Given the description of an element on the screen output the (x, y) to click on. 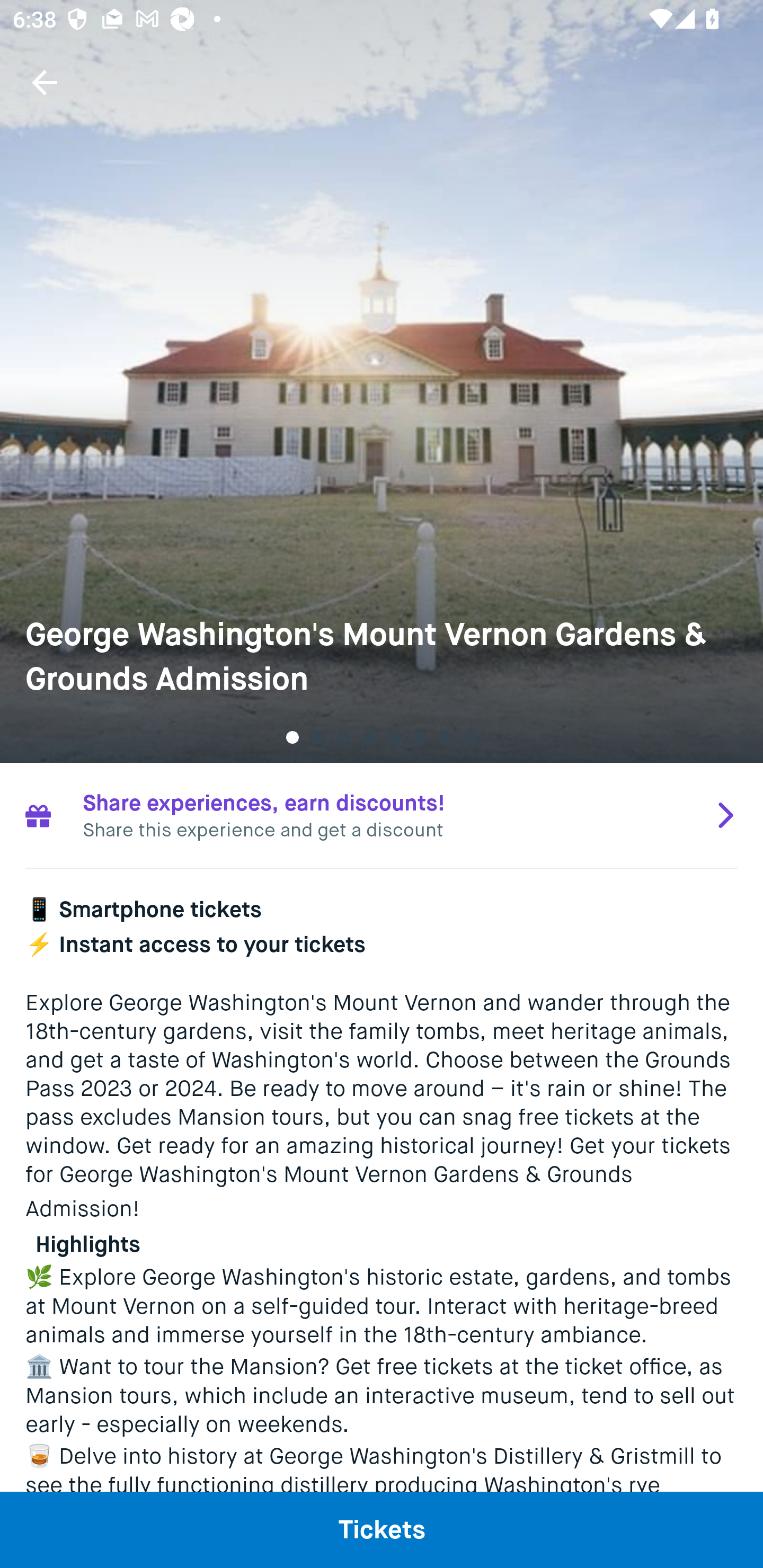
Navigate up (44, 82)
Tickets (381, 1529)
